Given the description of an element on the screen output the (x, y) to click on. 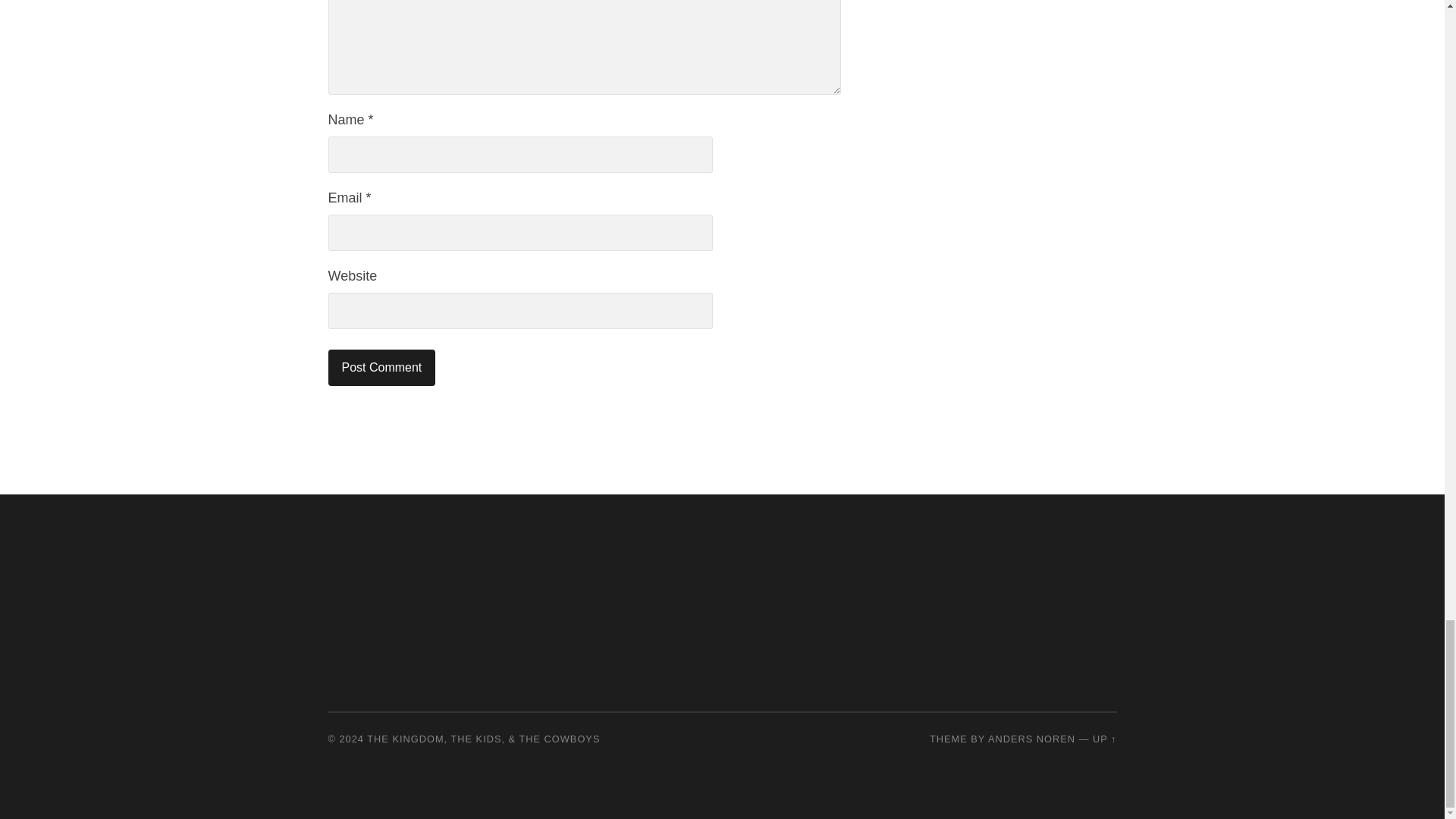
Post Comment (381, 367)
To the top (1104, 738)
Post Comment (381, 367)
